Given the description of an element on the screen output the (x, y) to click on. 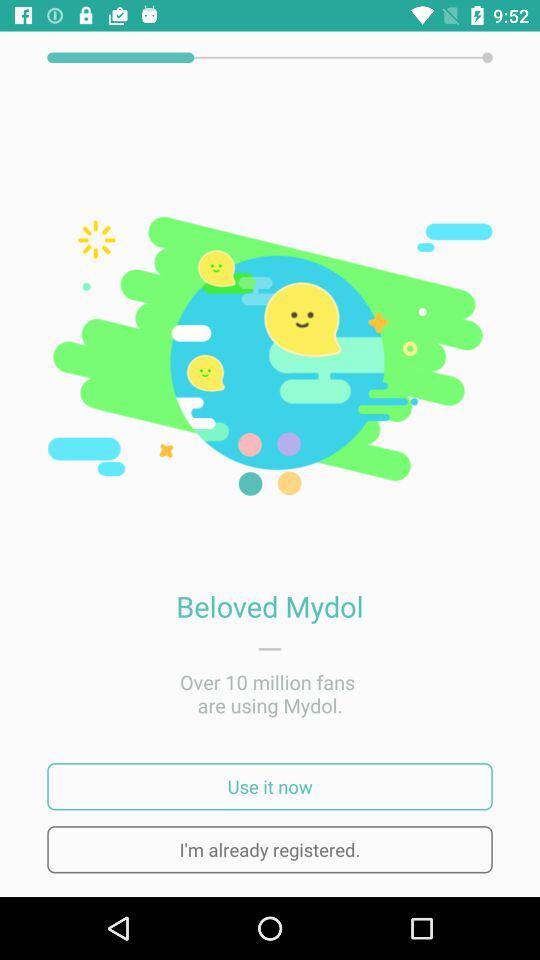
click use it now icon (269, 786)
